Given the description of an element on the screen output the (x, y) to click on. 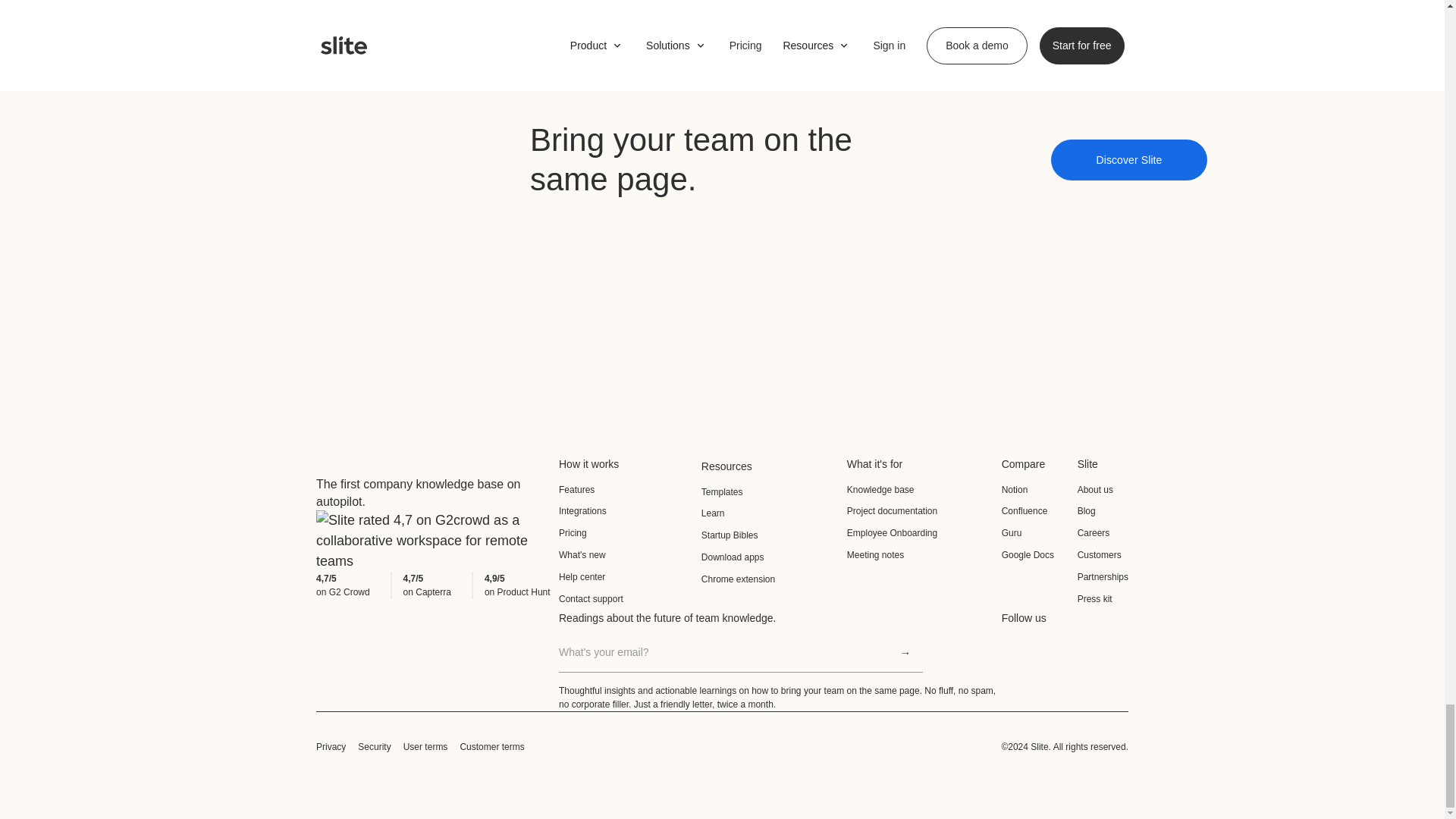
Contact support (630, 599)
Discover Slite (1129, 159)
Integrations (630, 511)
Features (630, 490)
Help center (630, 577)
What's new (630, 555)
Pricing (630, 533)
